Given the description of an element on the screen output the (x, y) to click on. 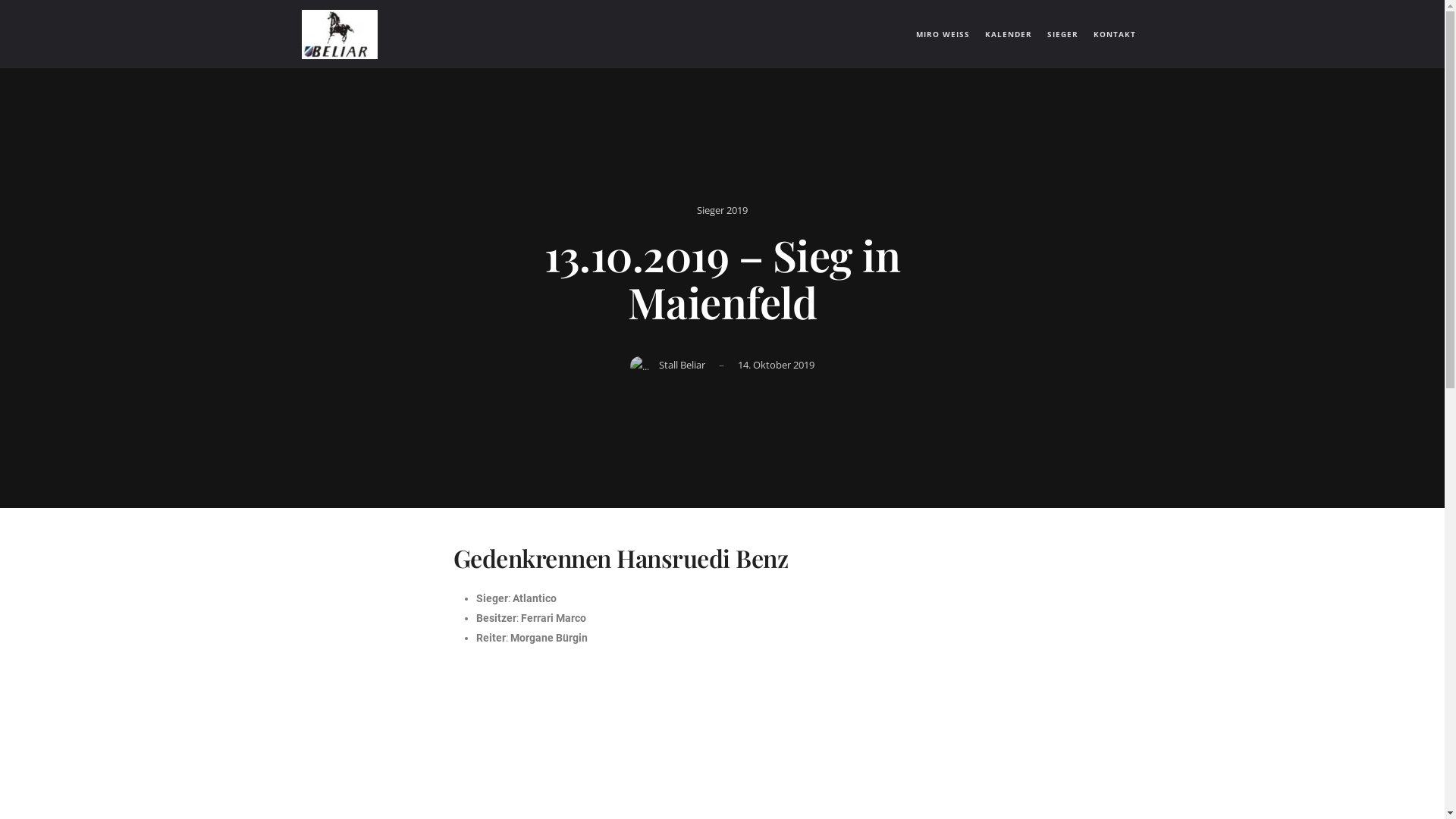
KONTAKT Element type: text (1114, 34)
SIEGER Element type: text (1061, 34)
MIRO WEISS Element type: text (942, 34)
14. Oktober 2019 Element type: text (775, 364)
Sieger 2019 Element type: text (721, 209)
Stall Beliar Element type: text (681, 364)
KALENDER Element type: text (1007, 34)
